Given the description of an element on the screen output the (x, y) to click on. 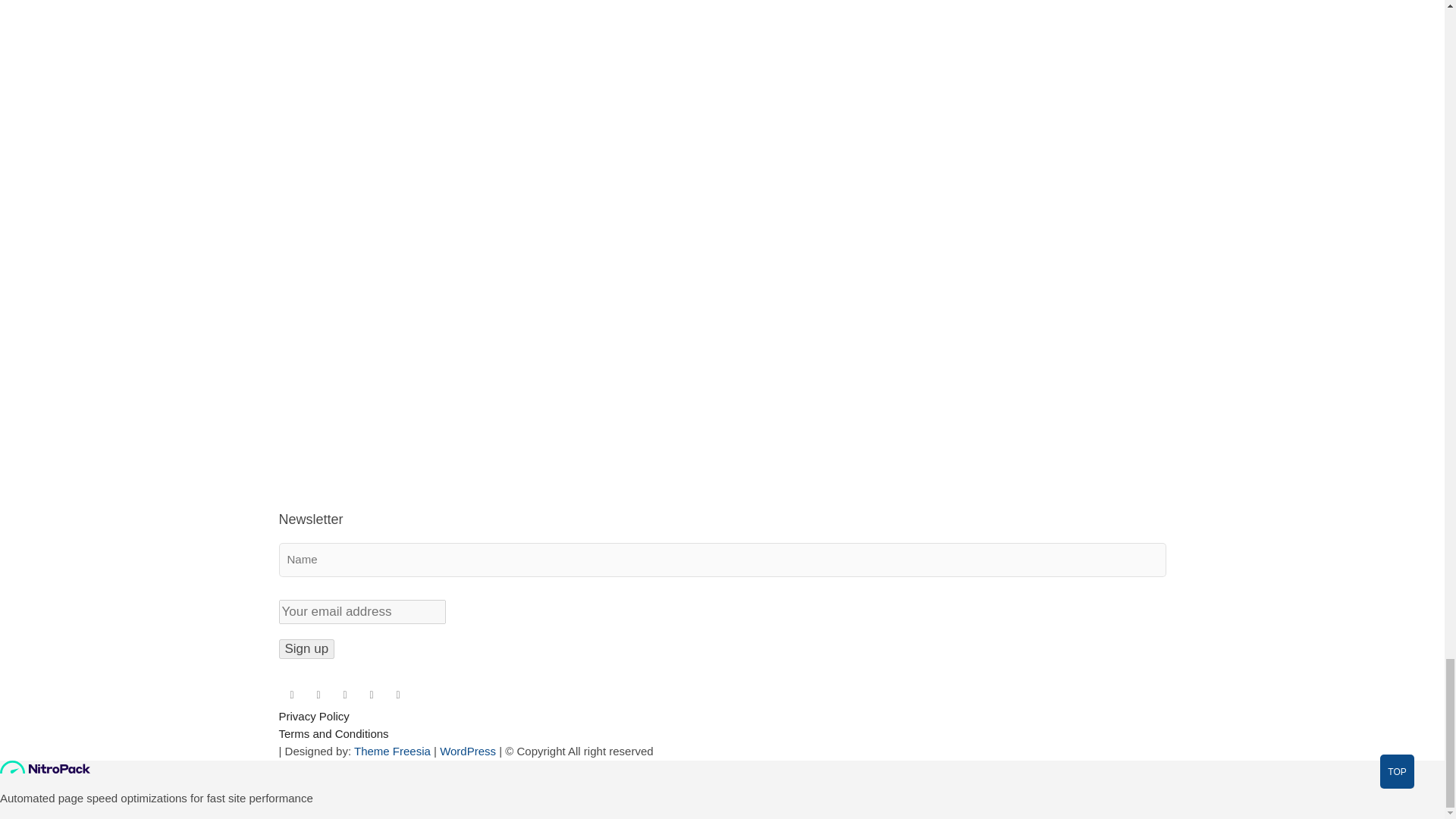
Sign up (306, 649)
